Given the description of an element on the screen output the (x, y) to click on. 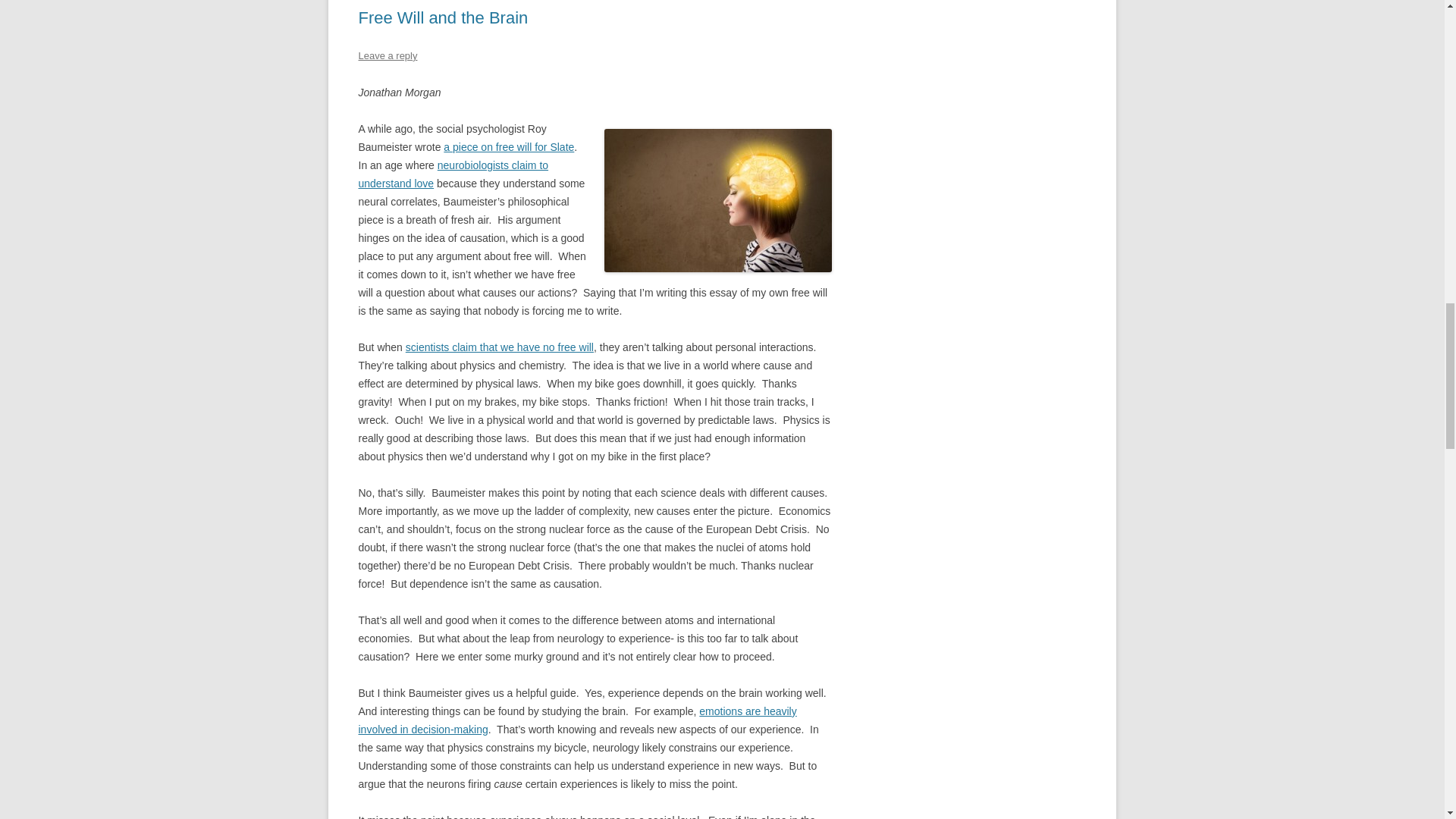
Silly scientists (500, 346)
Free Will (508, 146)
Weiss on Love (453, 173)
Free Will and the Brain (442, 17)
Leave a reply (387, 55)
Emotions and decision making (577, 720)
